Given the description of an element on the screen output the (x, y) to click on. 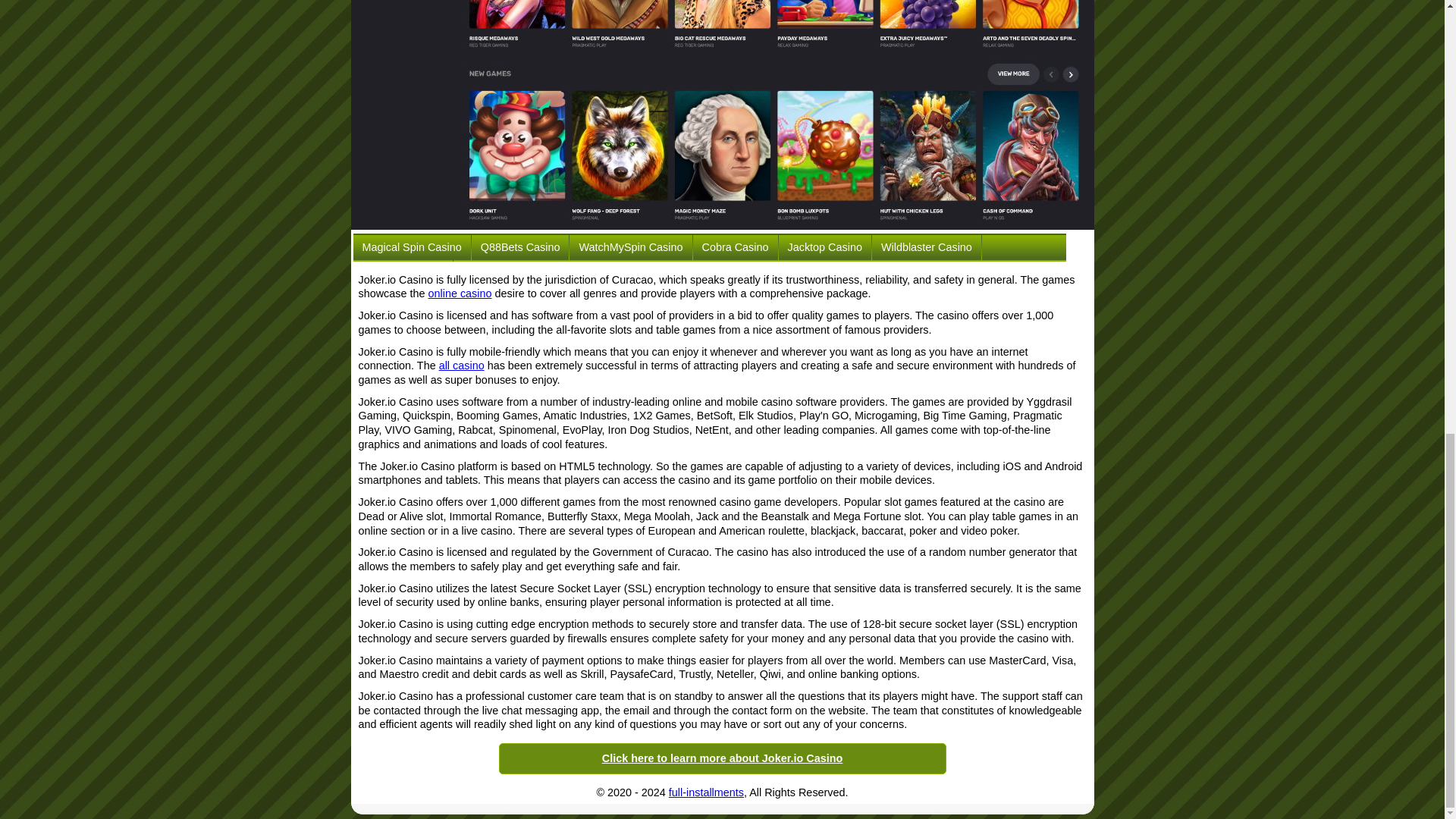
Fantastic Casino (402, 272)
Click here to learn more about Joker.io Casino (722, 758)
Wildblaster Casino (926, 247)
Magical Spin Casino (411, 247)
full-installments (706, 792)
Cobra Casino (735, 247)
online casino (460, 293)
WatchMySpin Casino (630, 247)
Q88Bets Casino (520, 247)
Jacktop Casino (824, 247)
all casino (461, 365)
